Given the description of an element on the screen output the (x, y) to click on. 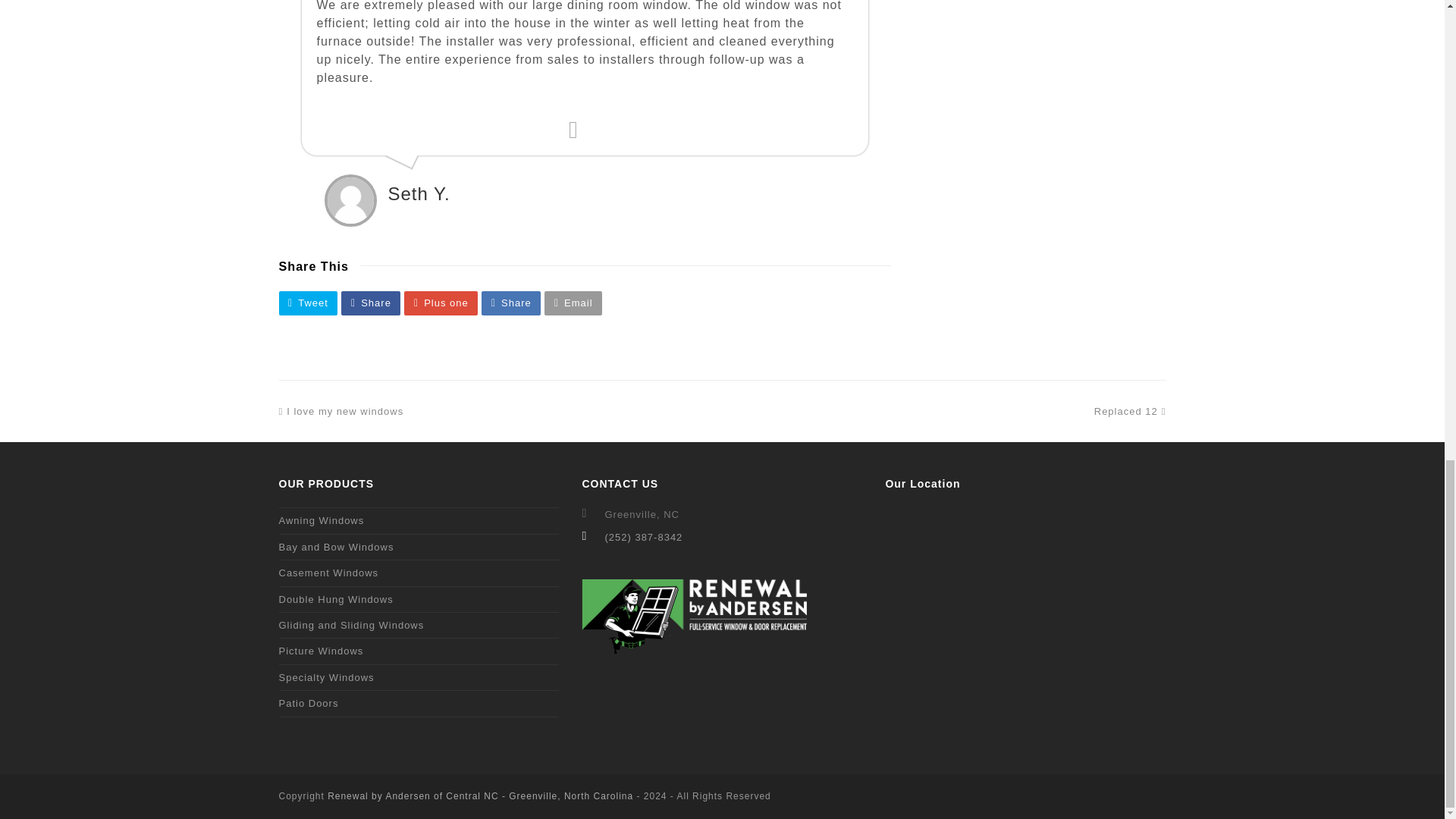
Casement Windows (328, 572)
Tweet (308, 302)
Share (341, 410)
Share (510, 302)
Bay and Bow Windows (370, 302)
Double Hung Windows (336, 546)
Awning Windows (336, 599)
Plus one (322, 520)
